Given the description of an element on the screen output the (x, y) to click on. 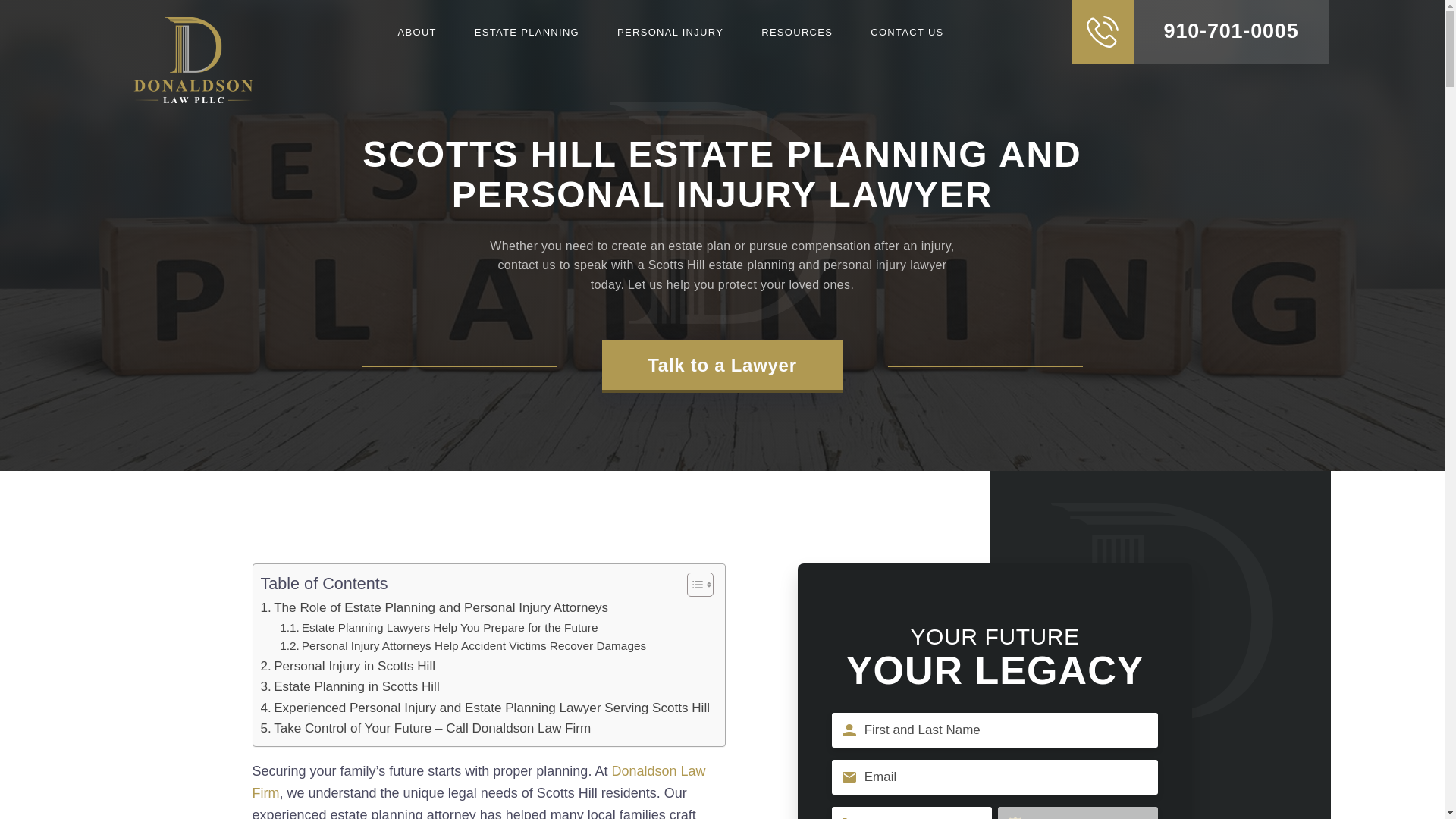
910-701-0005 (1200, 31)
Estate Planning Lawyers Help You Prepare for the Future (437, 628)
Donaldson Law Firm PLLC (193, 60)
RESOURCES (796, 31)
Talk to a Lawyer (721, 366)
ESTATE PLANNING (526, 31)
The Role of Estate Planning and Personal Injury Attorneys (434, 607)
PERSONAL INJURY (670, 31)
ABOUT (416, 31)
Personal Injury in Scotts Hill (347, 666)
Estate Planning in Scotts Hill (349, 686)
